Given the description of an element on the screen output the (x, y) to click on. 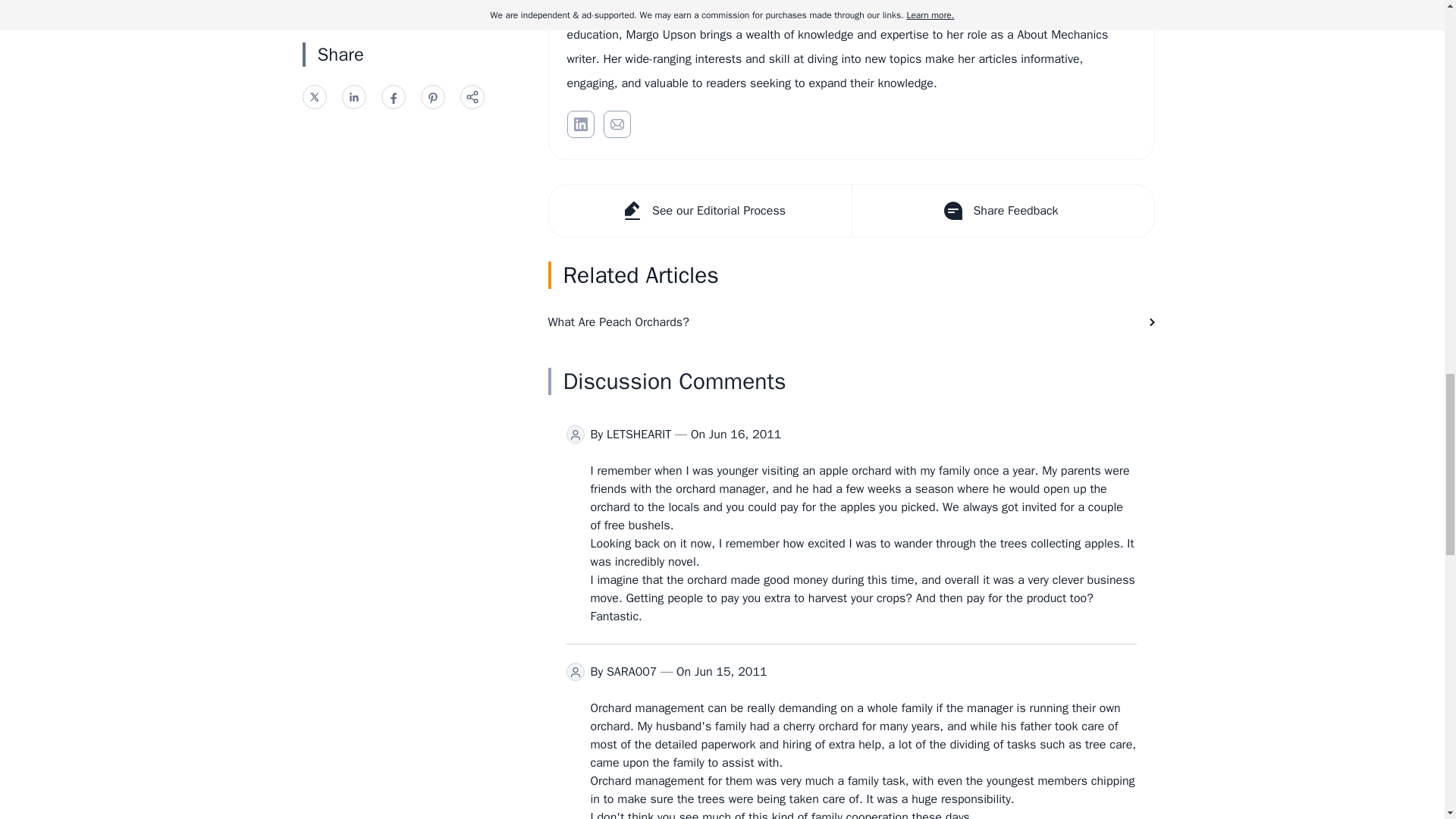
Share Feedback (1001, 210)
See our Editorial Process (699, 210)
What Are Peach Orchards? (850, 322)
